Given the description of an element on the screen output the (x, y) to click on. 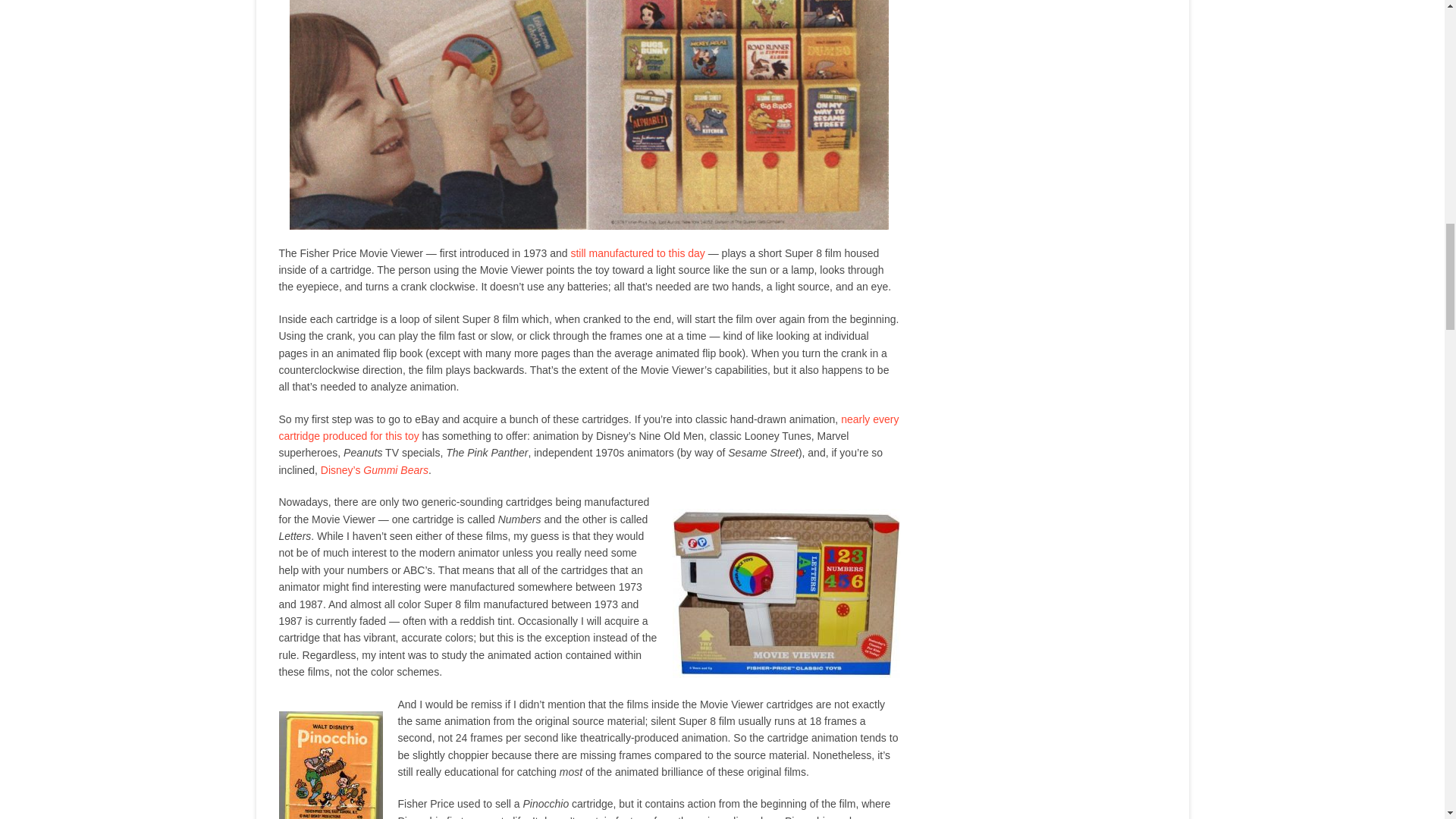
still manufactured to this day (637, 253)
nearly every cartridge produced for this toy (589, 427)
